Given the description of an element on the screen output the (x, y) to click on. 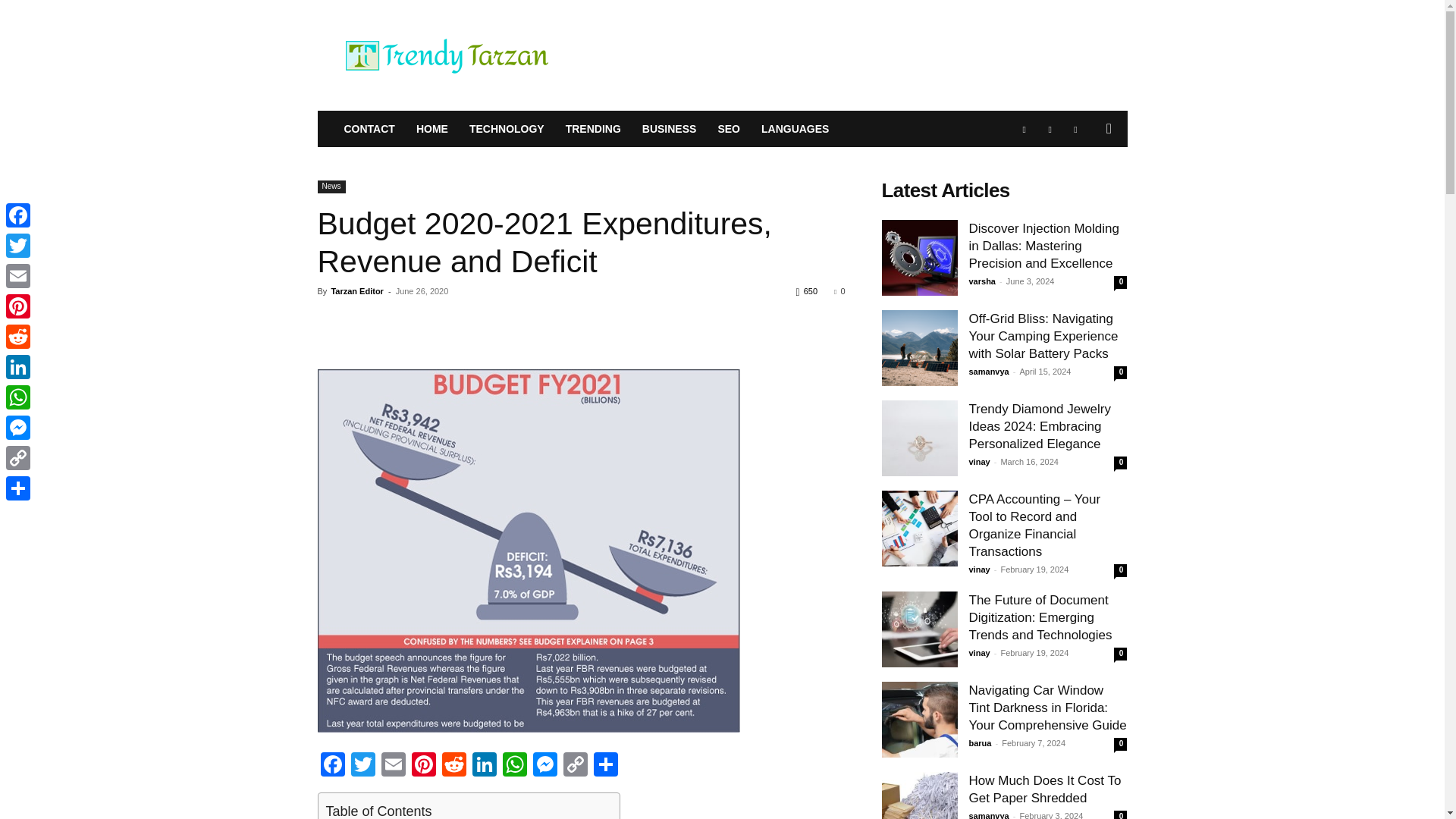
Twitter (362, 766)
Search (1085, 189)
Pinterest (422, 766)
TECHNOLOGY (506, 128)
Email (392, 766)
TRENDING (592, 128)
Tarzan Editor (356, 290)
CONTACT (369, 128)
LANGUAGES (795, 128)
